Given the description of an element on the screen output the (x, y) to click on. 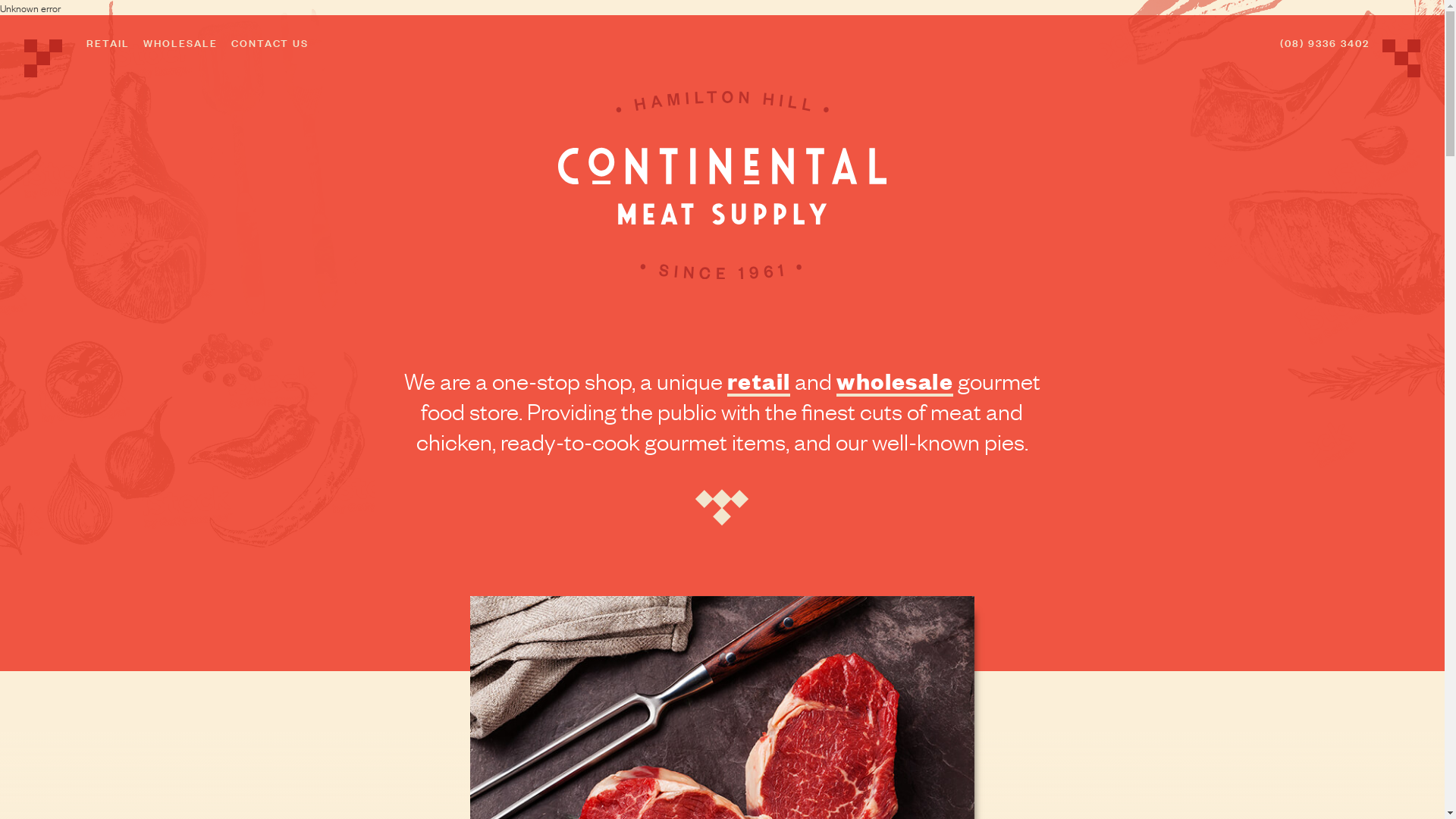
WHOLESALE Element type: text (180, 42)
CONTACT US Element type: text (269, 42)
wholesale Element type: text (894, 379)
(08) 9336 3402 Element type: text (1324, 42)
RETAIL Element type: text (107, 42)
retail Element type: text (758, 379)
